Given the description of an element on the screen output the (x, y) to click on. 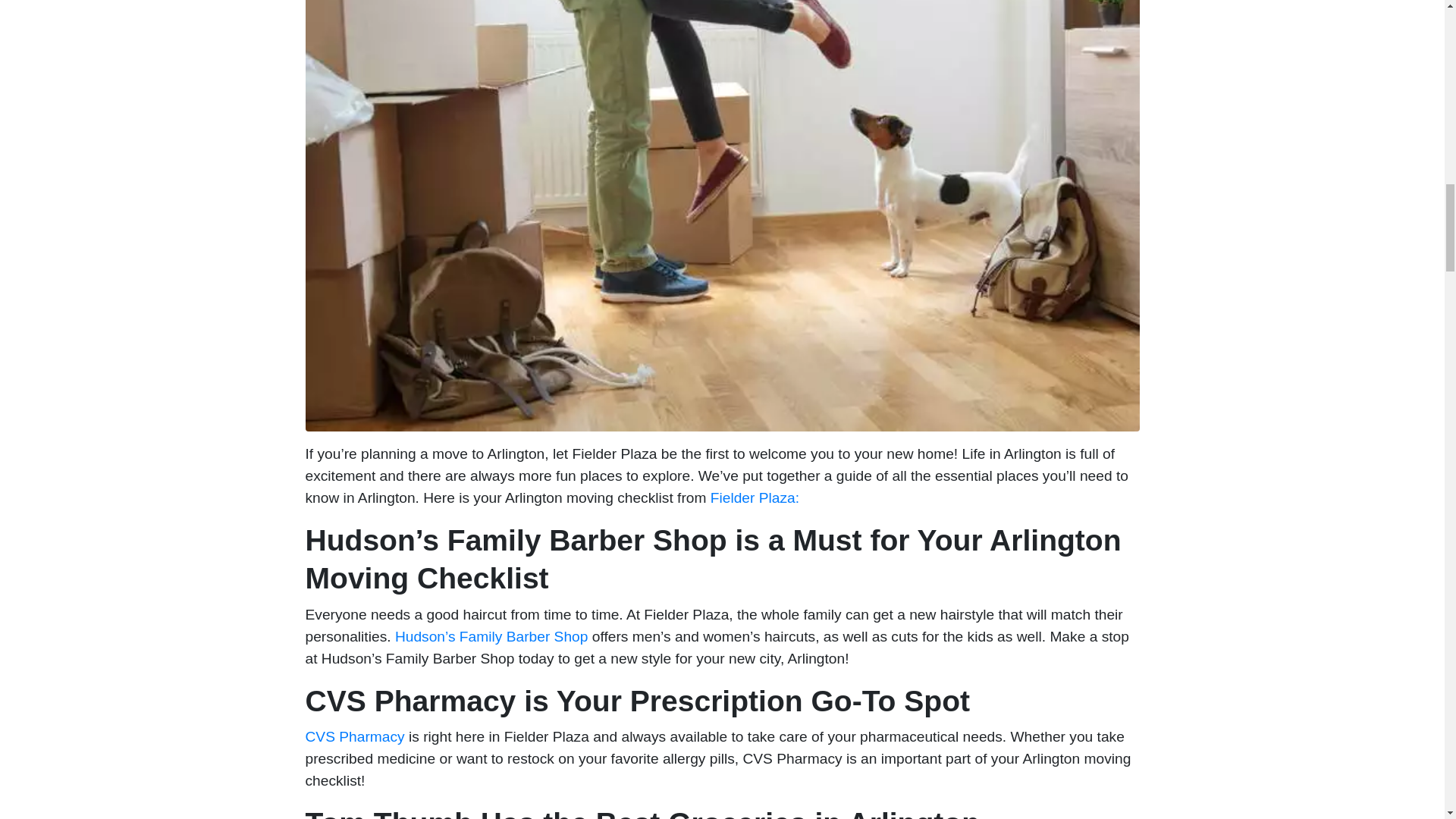
Fielder Plaza: (754, 497)
